Given the description of an element on the screen output the (x, y) to click on. 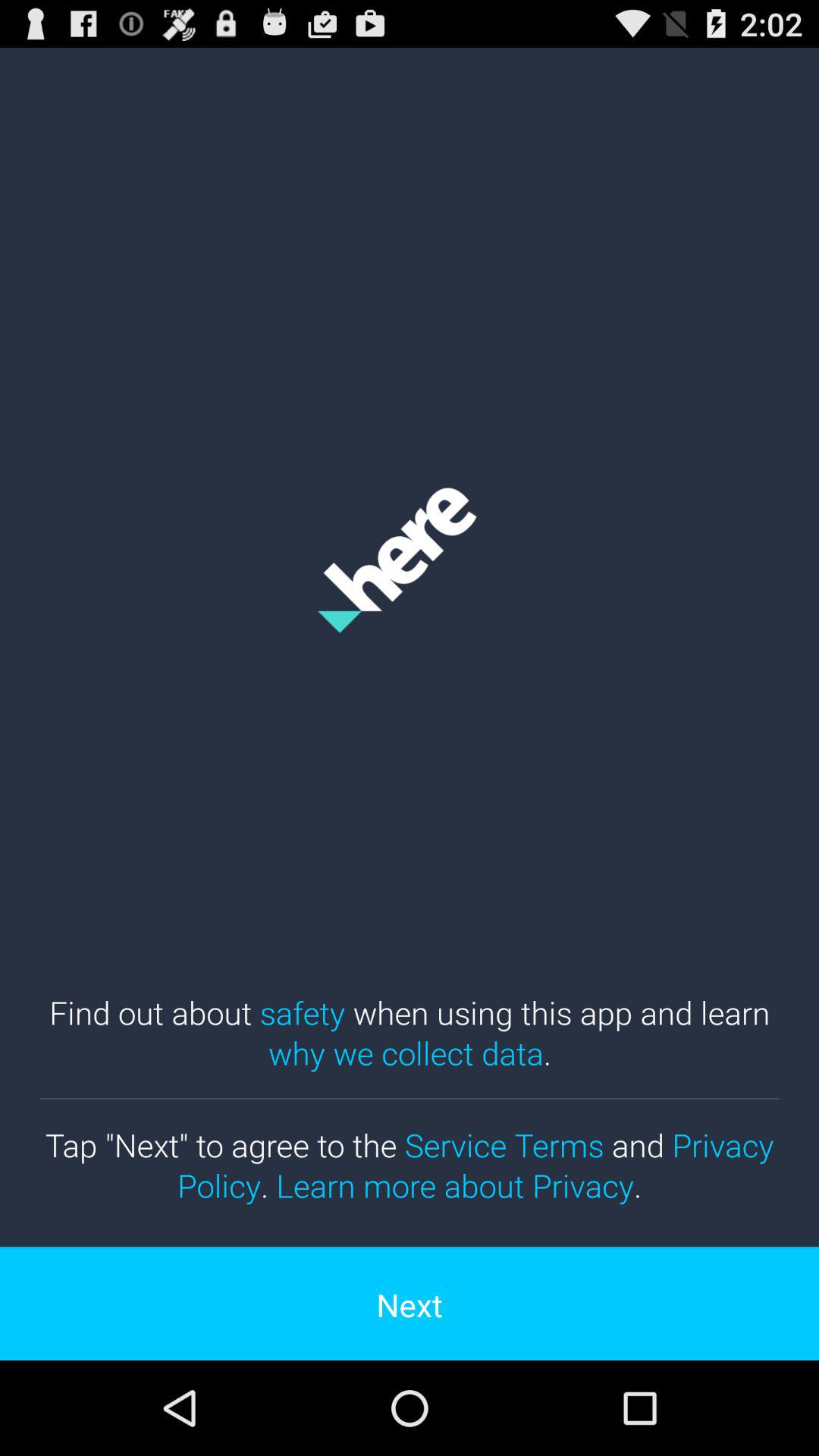
select the item above the next (409, 1164)
